Given the description of an element on the screen output the (x, y) to click on. 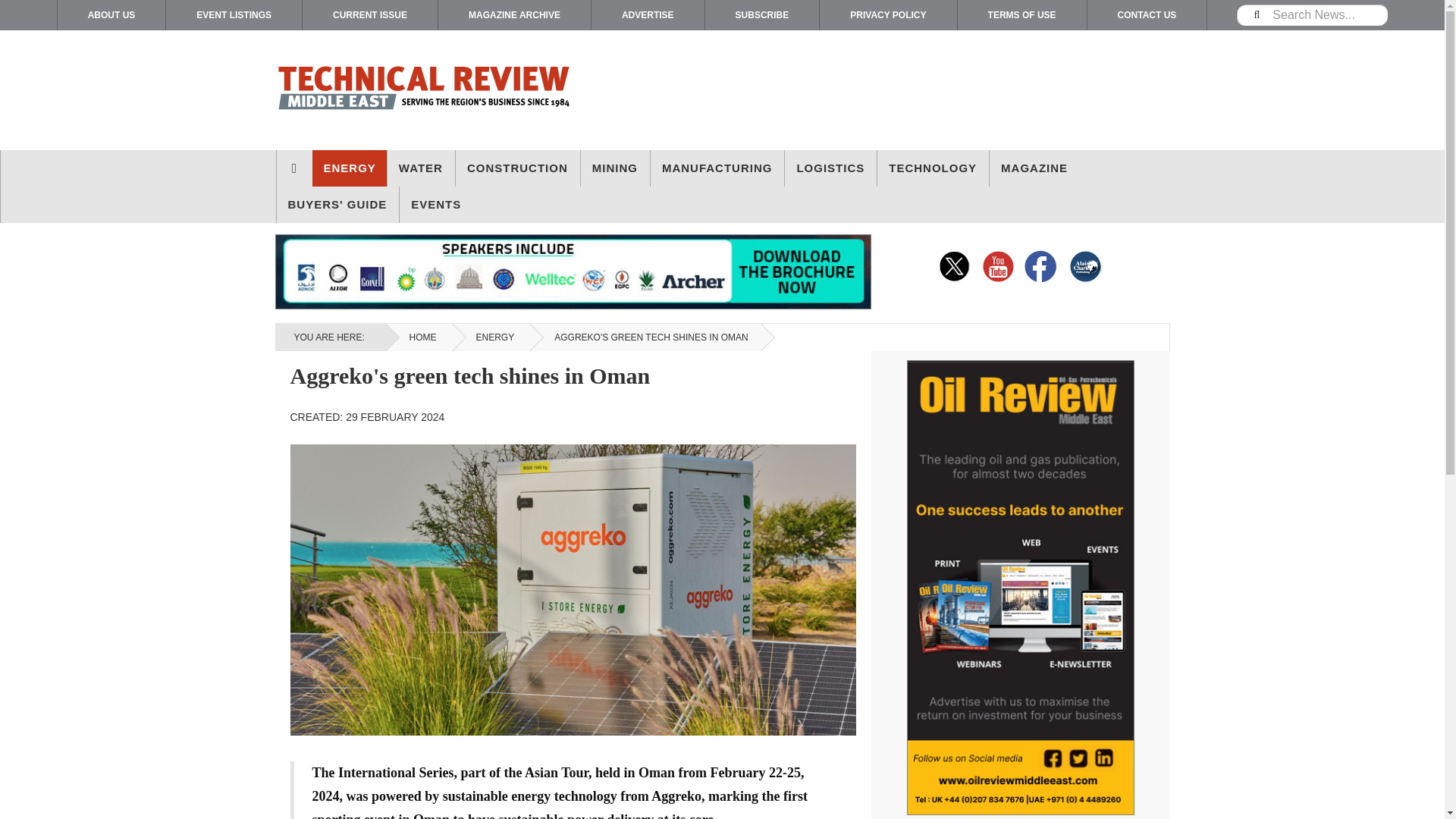
CONTACT US (1147, 15)
HOME (293, 167)
ENERGY (350, 167)
MINING (614, 167)
ADVERTISE (647, 15)
PRIVACY POLICY (887, 15)
CURRENT ISSUE (370, 15)
TECHNOLOGY (932, 167)
MANUFACTURING (717, 167)
MAGAZINE ARCHIVE (514, 15)
Technical Review Middle East (423, 90)
WATER (420, 167)
EVENT LISTINGS (233, 15)
ABOUT US (111, 15)
LOGISTICS (830, 167)
